Given the description of an element on the screen output the (x, y) to click on. 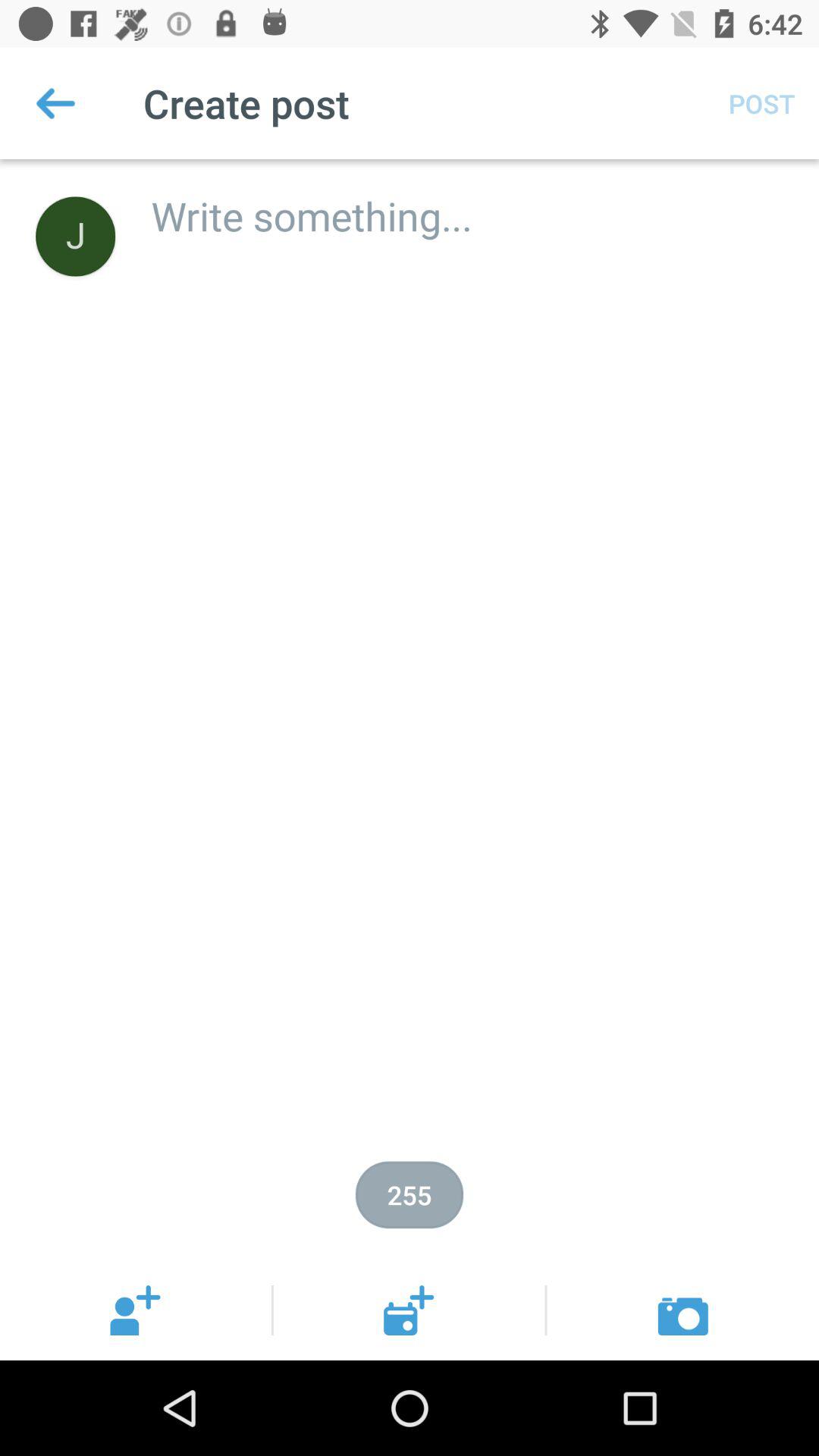
choose 255 (409, 1194)
